Given the description of an element on the screen output the (x, y) to click on. 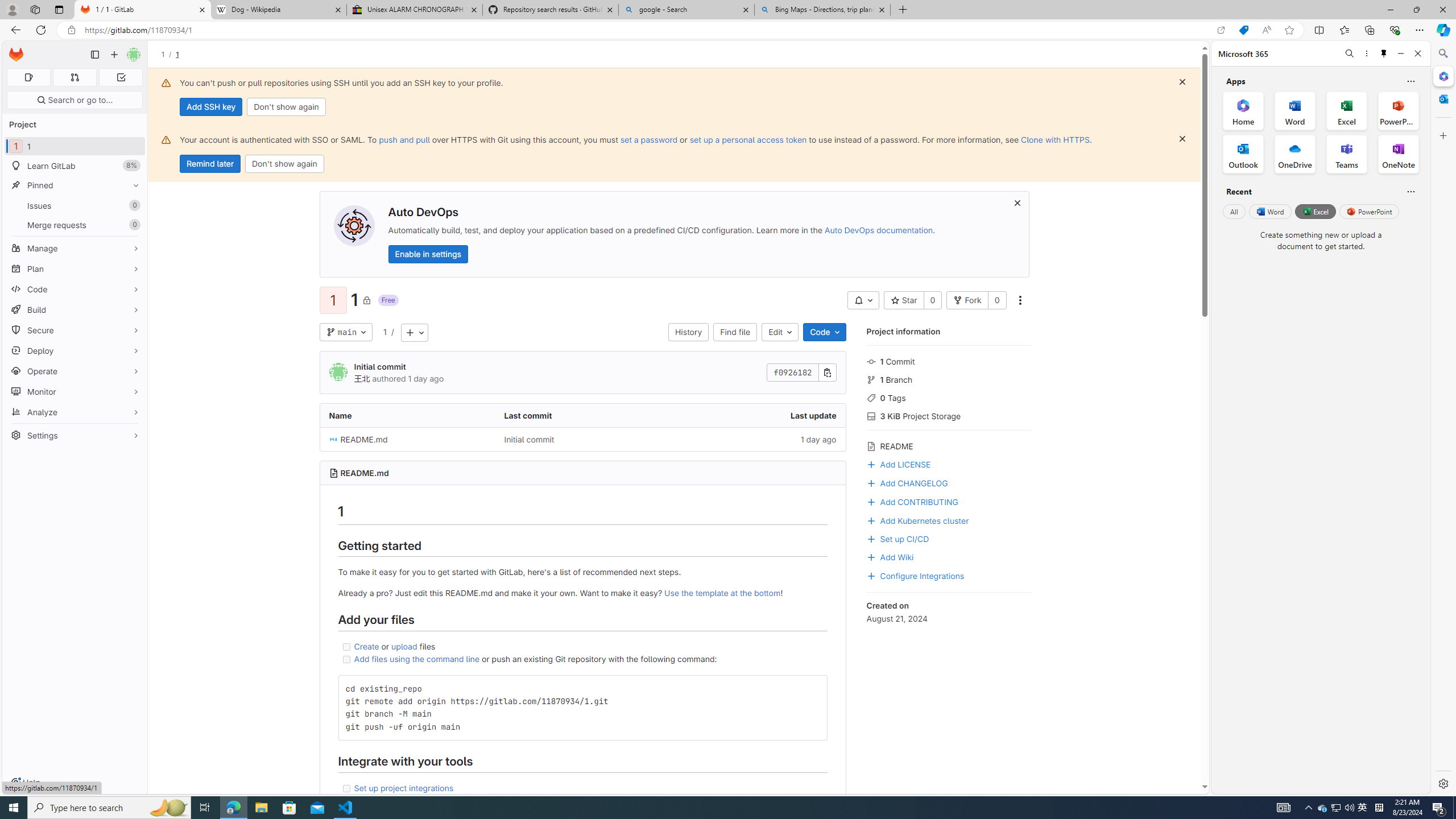
Excel (1315, 210)
Find file (735, 331)
PowerPoint (1369, 210)
upload (404, 646)
0 Tags (948, 396)
1 1 (74, 145)
AutomationID: __BVID__498__BV_toggle_ (863, 300)
Dismiss Auto DevOps box (1017, 202)
Build (74, 309)
